Given the description of an element on the screen output the (x, y) to click on. 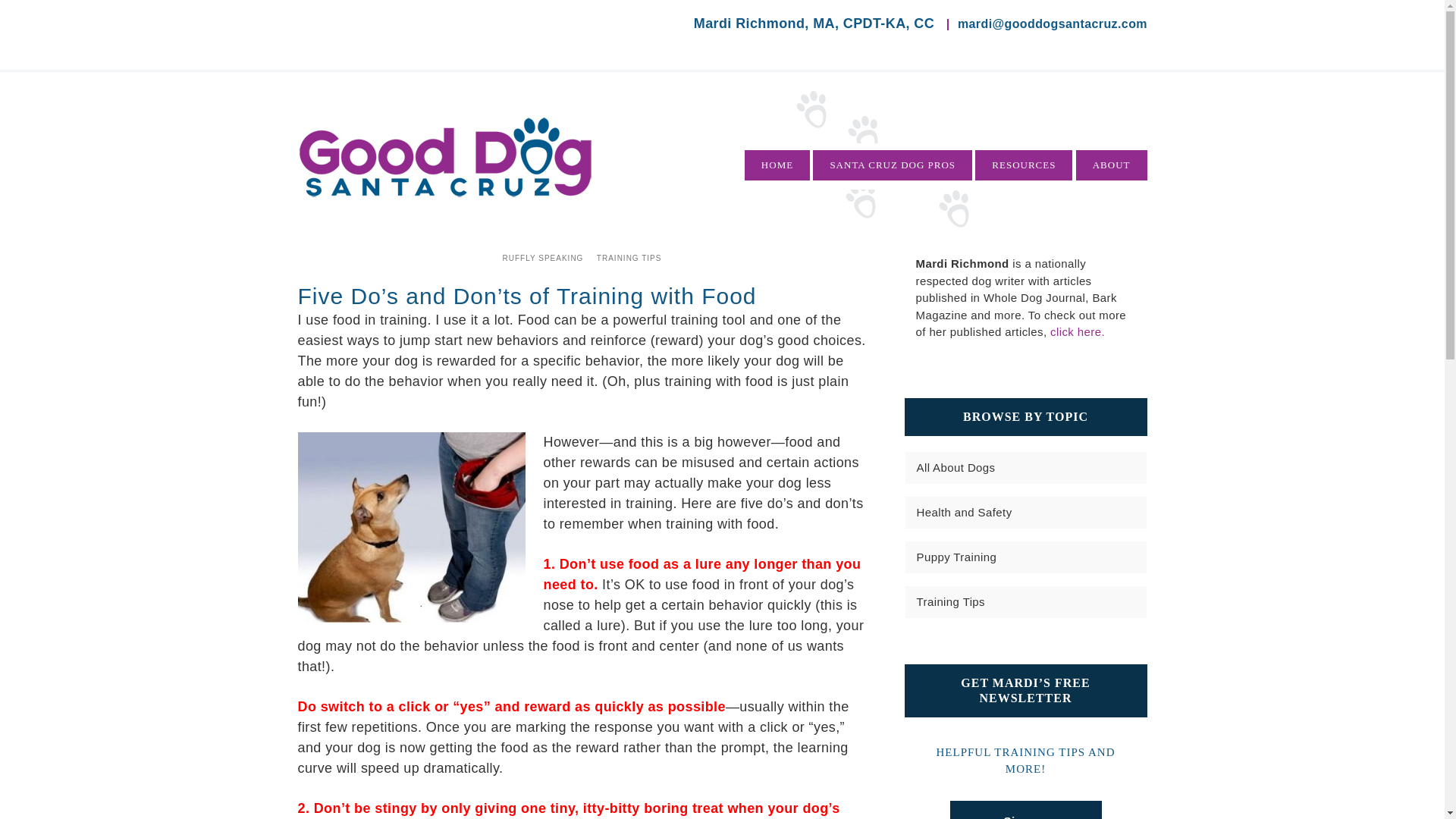
RUFFLY SPEAKING (543, 257)
ABOUT (1111, 164)
Training Tips (950, 600)
RESOURCES (1023, 164)
click here. (1077, 331)
HOME (776, 164)
Health and Safety (963, 511)
All About Dogs (954, 467)
Puppy Training (955, 556)
GOOD DOG SANTA CRUZ (444, 156)
Sign up (1024, 809)
TRAINING TIPS (628, 257)
SANTA CRUZ DOG PROS (892, 164)
